Given the description of an element on the screen output the (x, y) to click on. 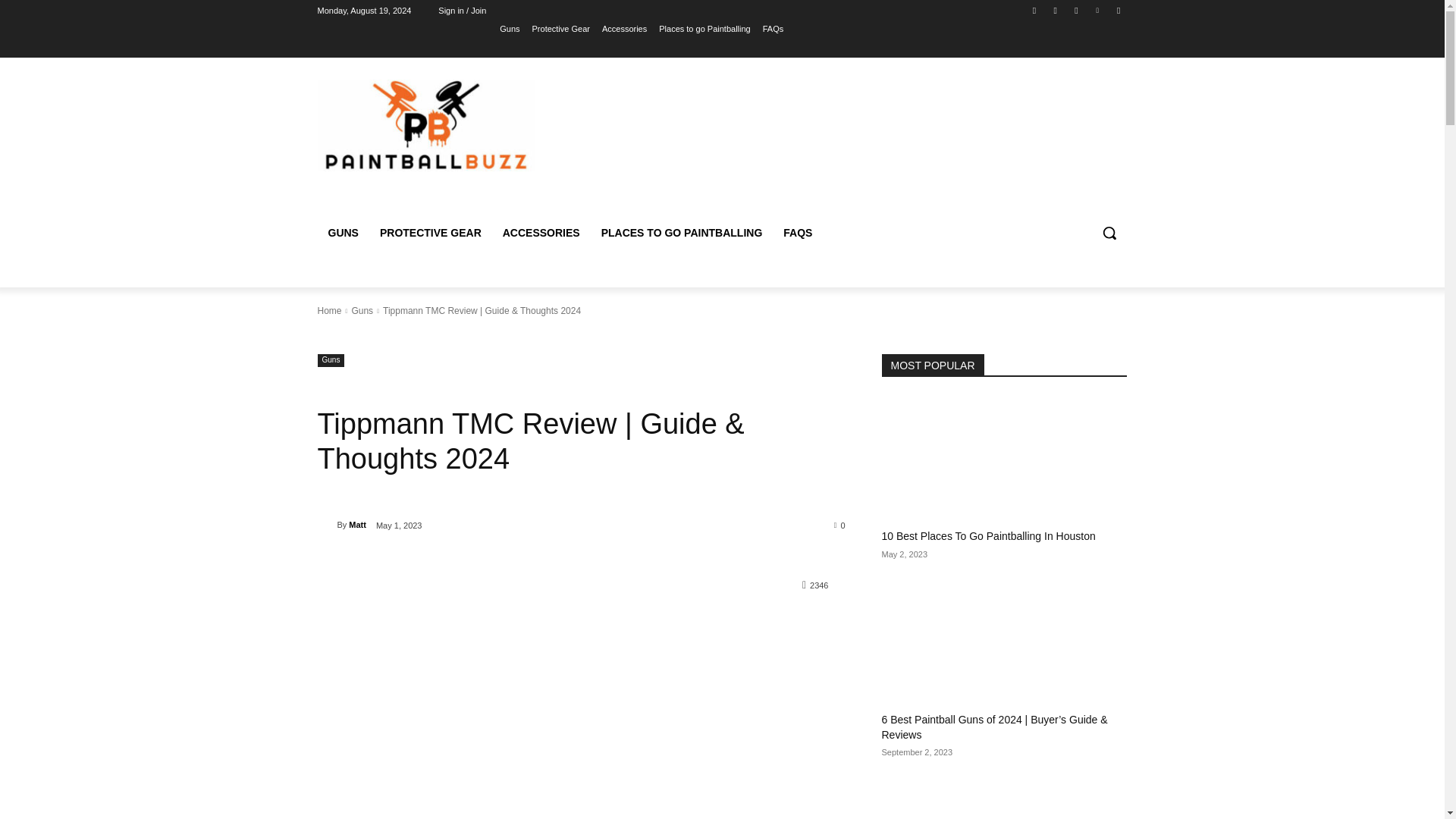
PROTECTIVE GEAR (430, 232)
Youtube (1117, 9)
Guns (509, 28)
PLACES TO GO PAINTBALLING (682, 232)
Facebook (1034, 9)
ACCESSORIES (541, 232)
Guns (361, 310)
Twitter (1075, 9)
Vimeo (1097, 9)
0 (839, 524)
